Given the description of an element on the screen output the (x, y) to click on. 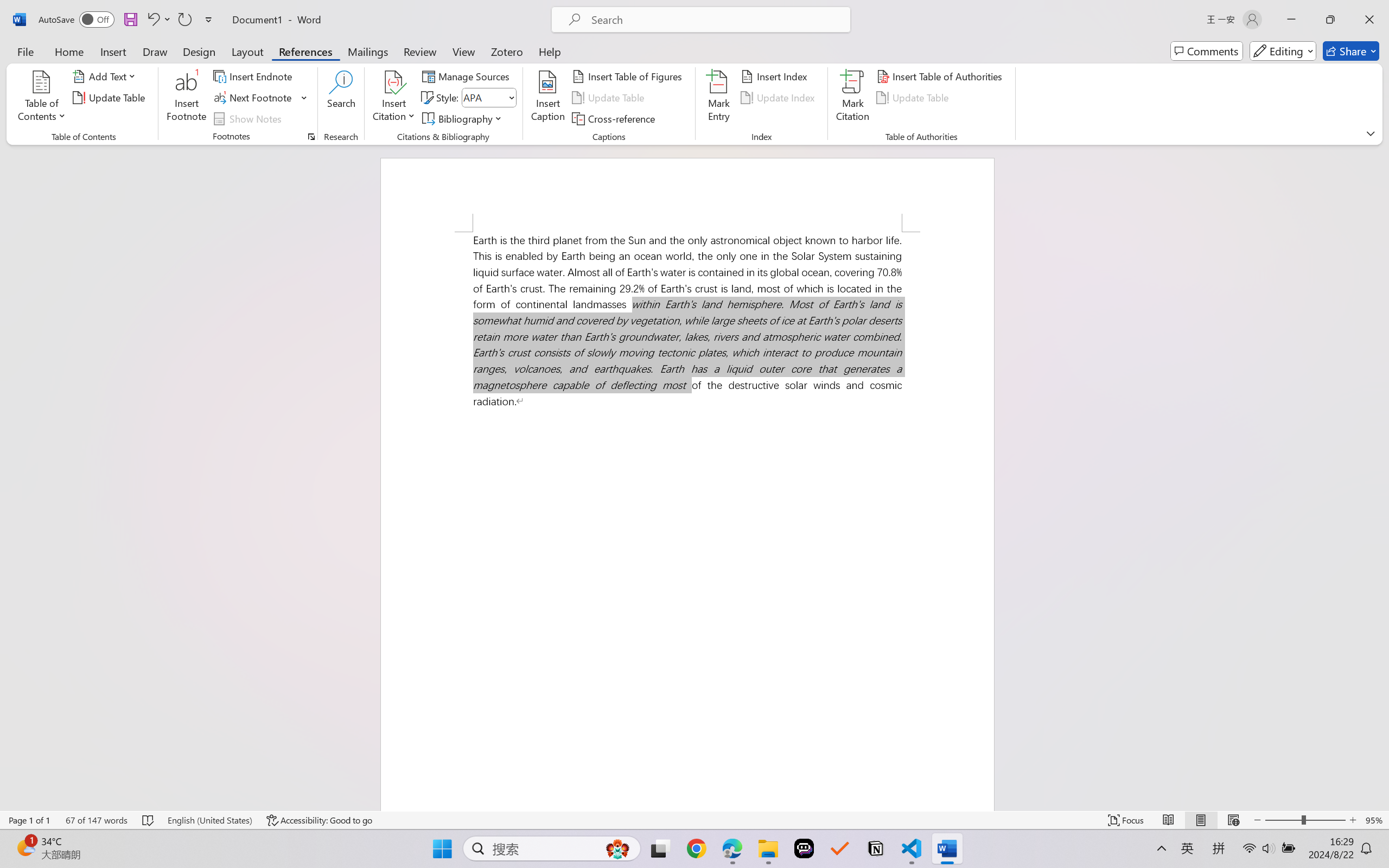
Search (341, 97)
Insert Footnote (186, 97)
Class: MsoCommandBar (694, 819)
Insert Table of Authorities... (941, 75)
Insert Endnote (253, 75)
Next Footnote (253, 97)
